Given the description of an element on the screen output the (x, y) to click on. 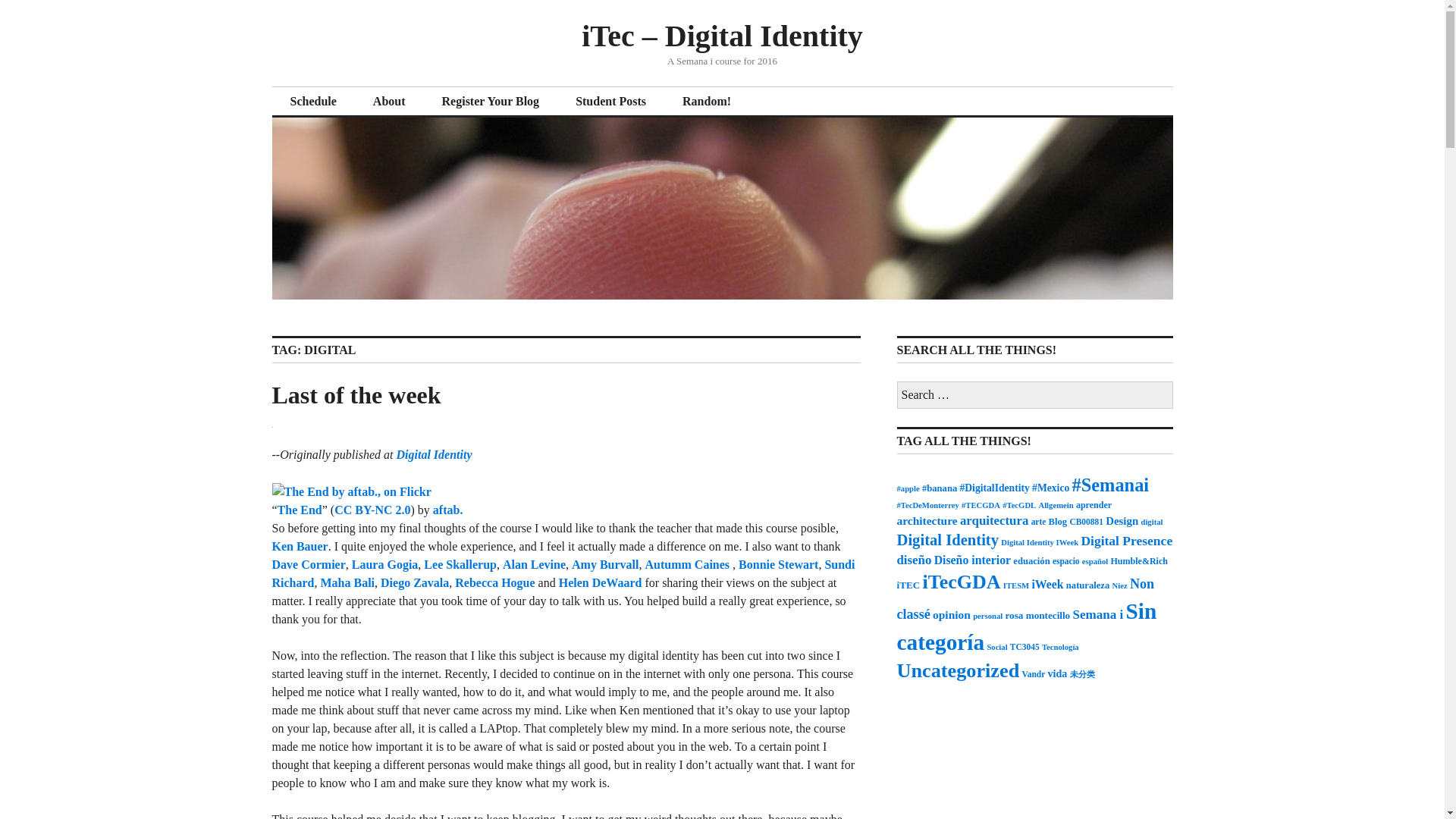
Last of the week (355, 394)
Diego Zavala (414, 582)
Sundi Richard (562, 572)
The End by aftab., on Flickr (350, 492)
Amy Burvall (605, 563)
Alan Levine (534, 563)
About (389, 101)
Student Posts (610, 101)
Digital Identity (433, 454)
Register Your Blog (490, 101)
